Given the description of an element on the screen output the (x, y) to click on. 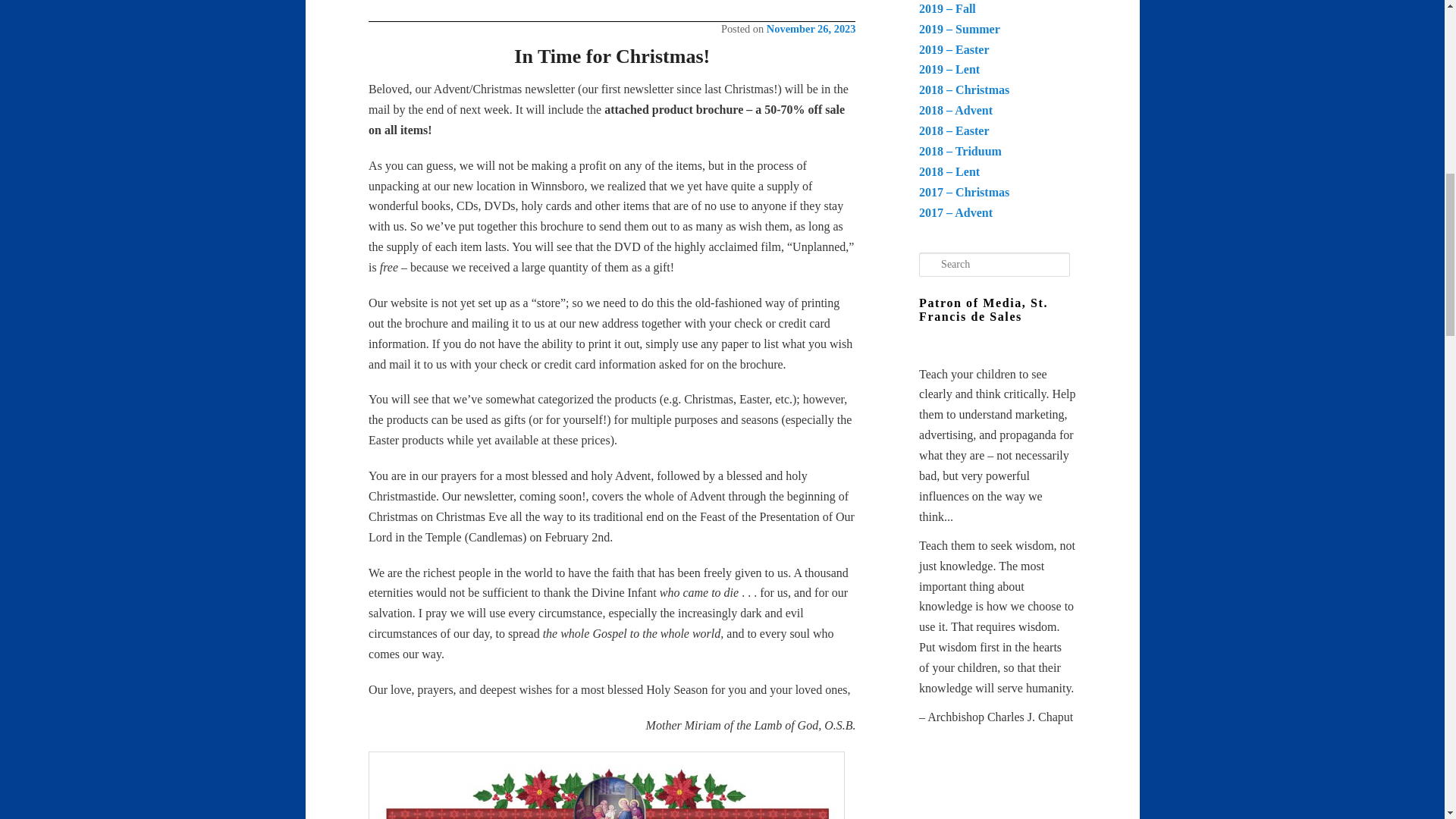
5:54 am (811, 28)
November 26, 2023 (811, 28)
In Time for Christmas! (611, 56)
